Given the description of an element on the screen output the (x, y) to click on. 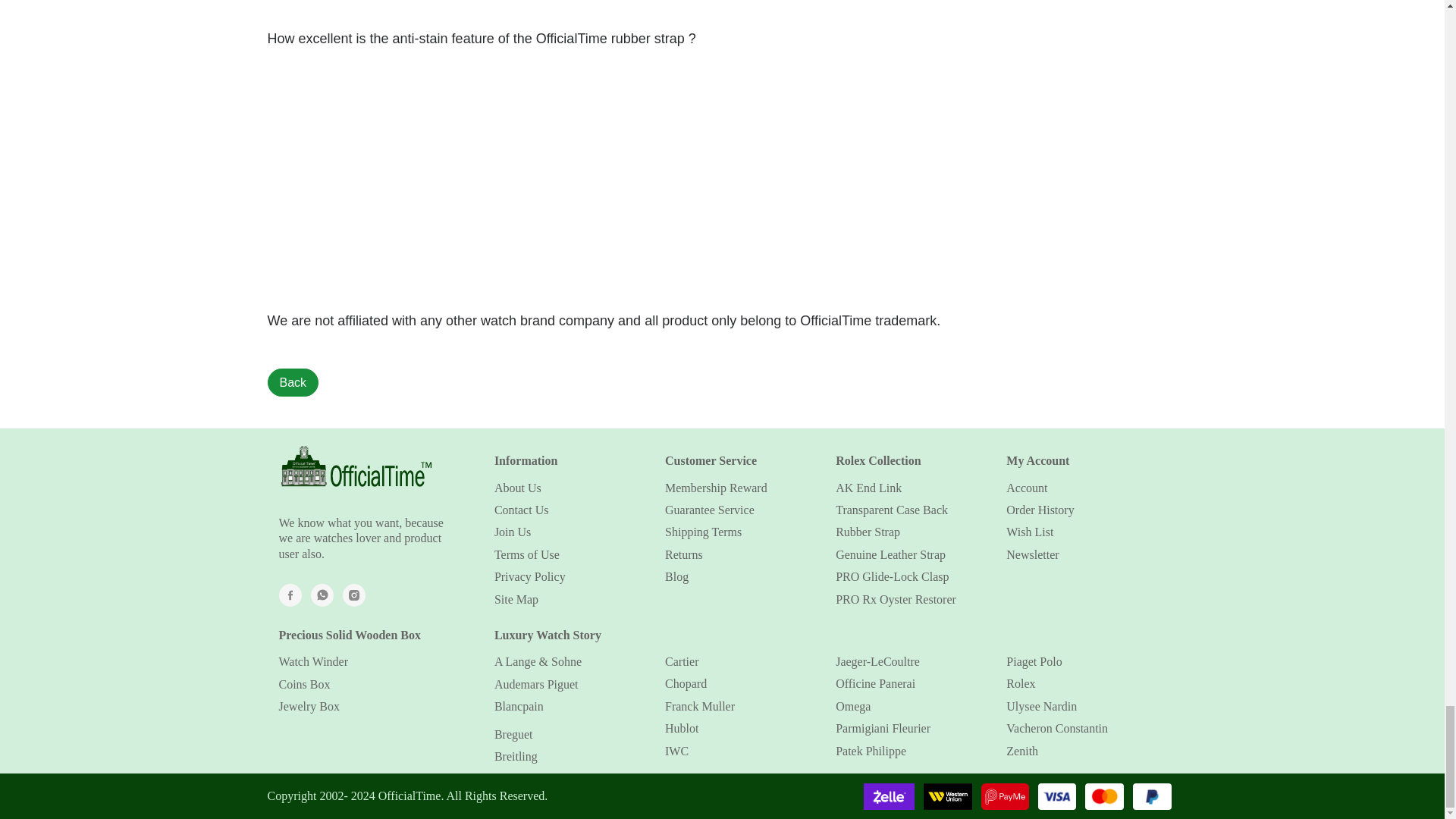
Back (292, 382)
